Given the description of an element on the screen output the (x, y) to click on. 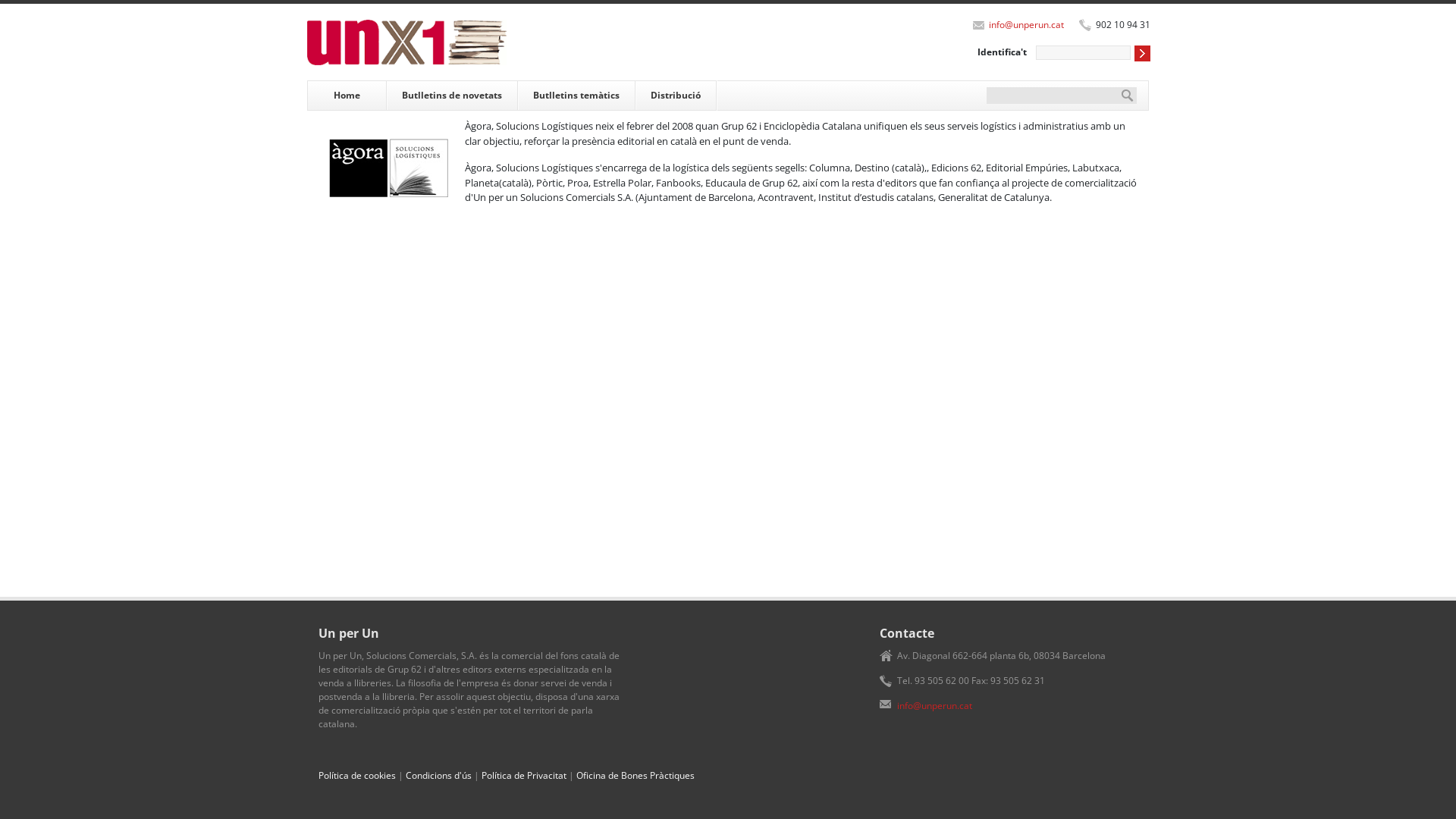
Home Element type: text (346, 95)
info@unperun.cat Element type: text (934, 705)
info@unperun.cat Element type: text (1025, 24)
Butlletins de novetats Element type: text (451, 95)
Go Element type: text (1142, 53)
Inici Element type: hover (412, 42)
Apply Element type: text (1127, 95)
